Given the description of an element on the screen output the (x, y) to click on. 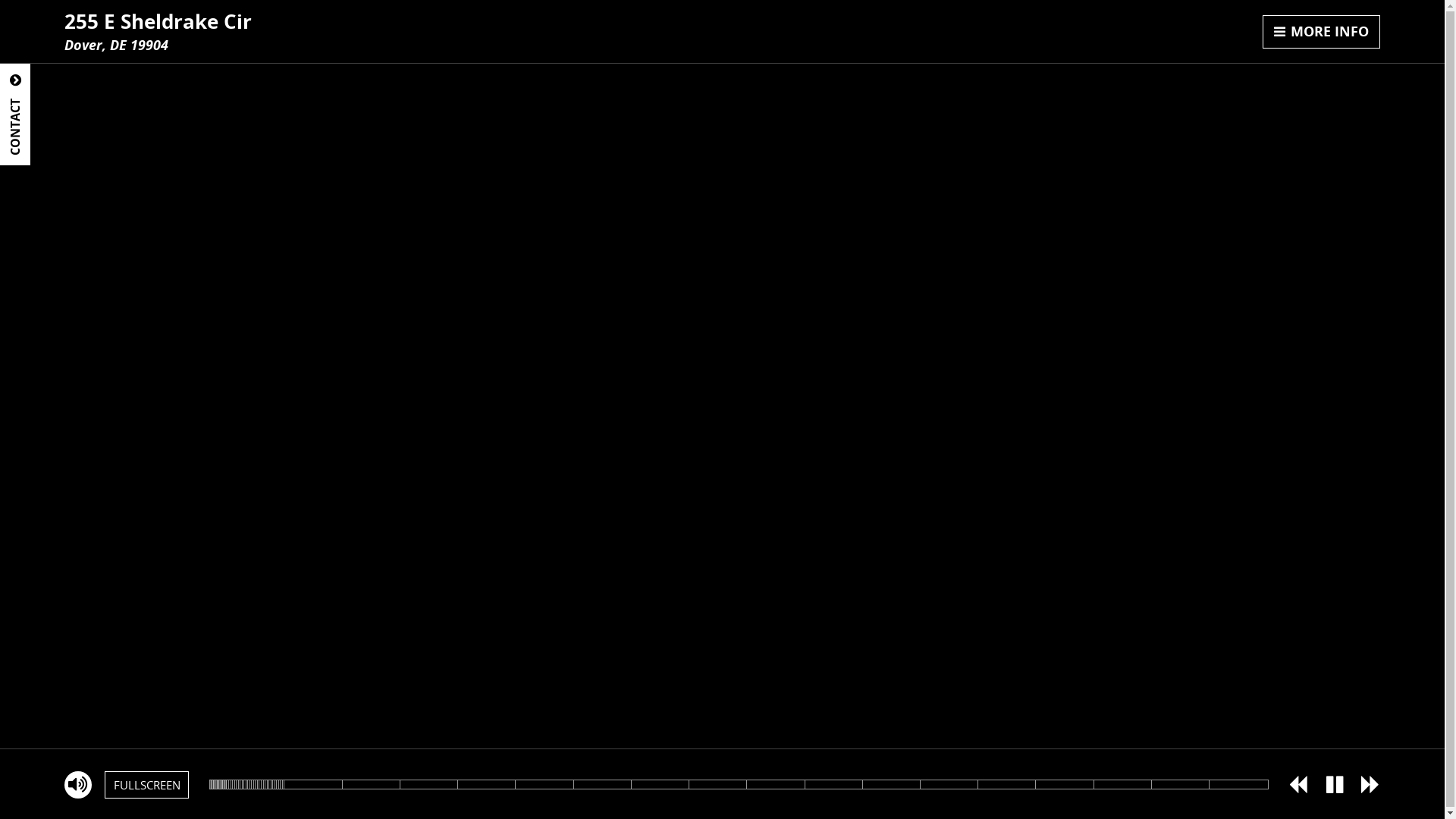
MORE INFO Element type: text (1321, 31)
